Given the description of an element on the screen output the (x, y) to click on. 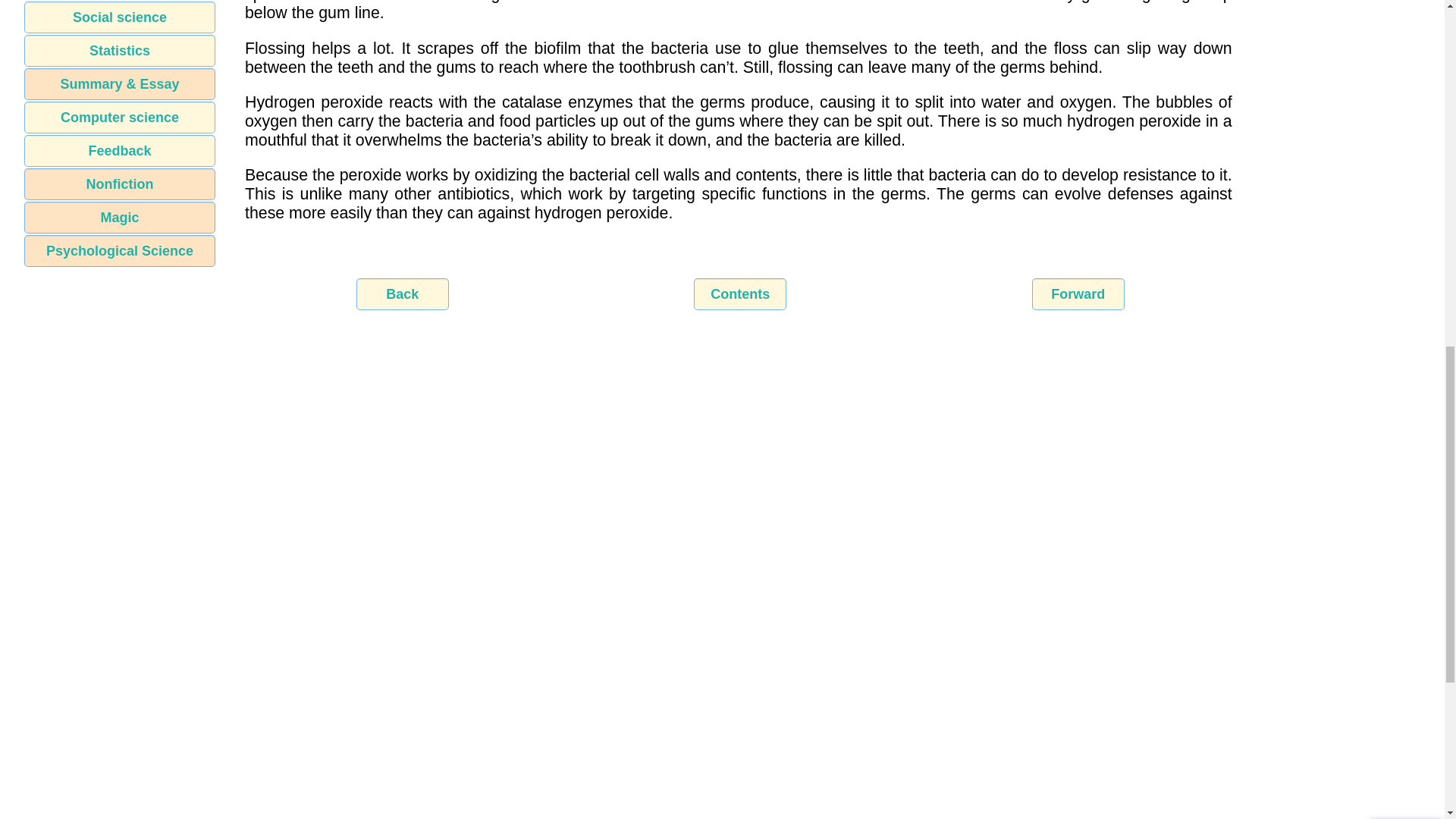
Contents (740, 294)
Social science (119, 17)
Back (402, 294)
Feedback (119, 151)
Computer science (119, 117)
Advertisement (721, 778)
Psychological Science (119, 250)
Statistics (119, 50)
Magic (119, 217)
Nonfiction (119, 183)
